Given the description of an element on the screen output the (x, y) to click on. 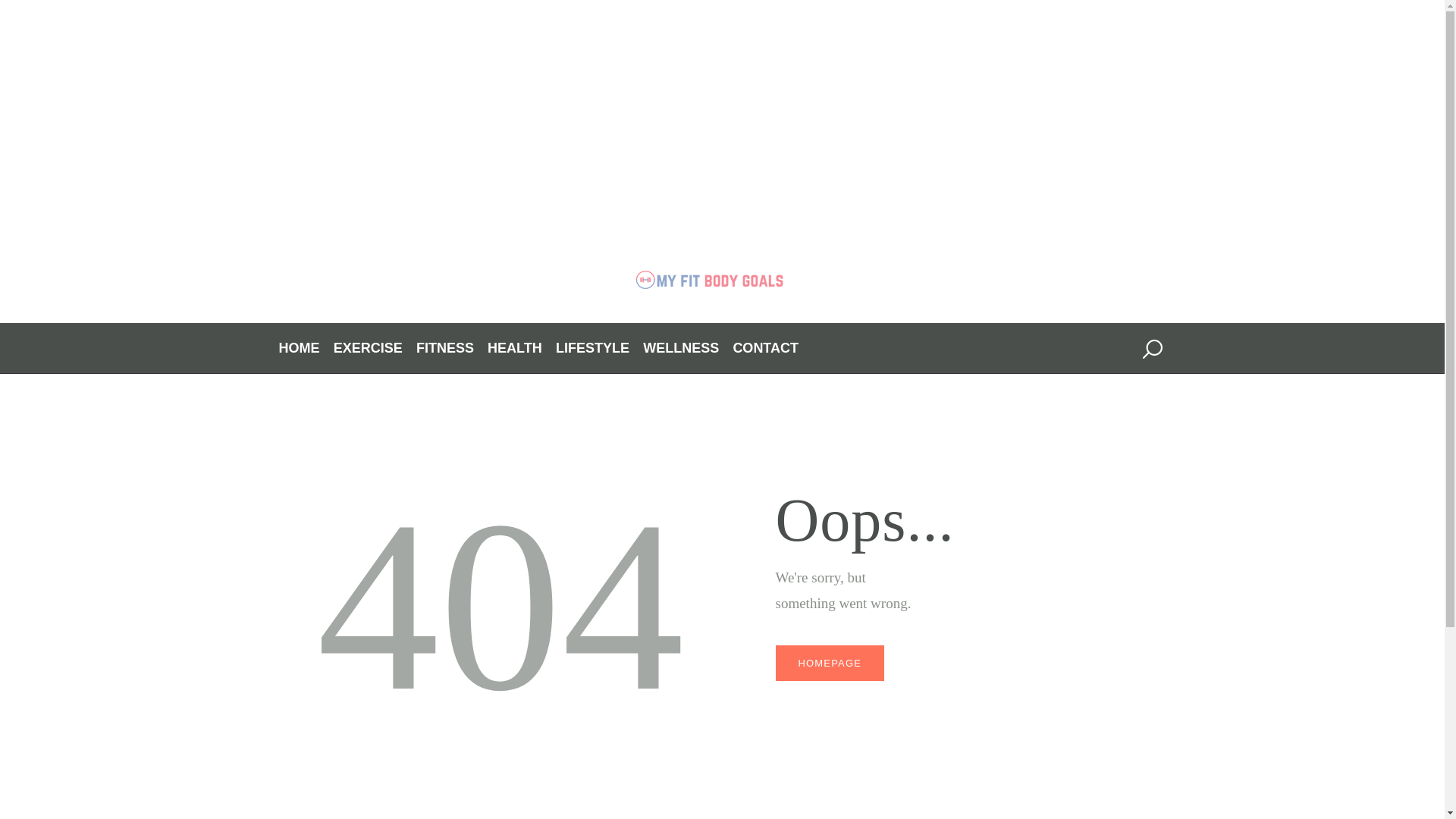
EXERCISE (368, 348)
FITNESS (445, 348)
CONTACT (764, 348)
LIFESTYLE (592, 348)
HEALTH (514, 348)
WELLNESS (681, 348)
HOMEPAGE (828, 662)
HOME (299, 348)
